Given the description of an element on the screen output the (x, y) to click on. 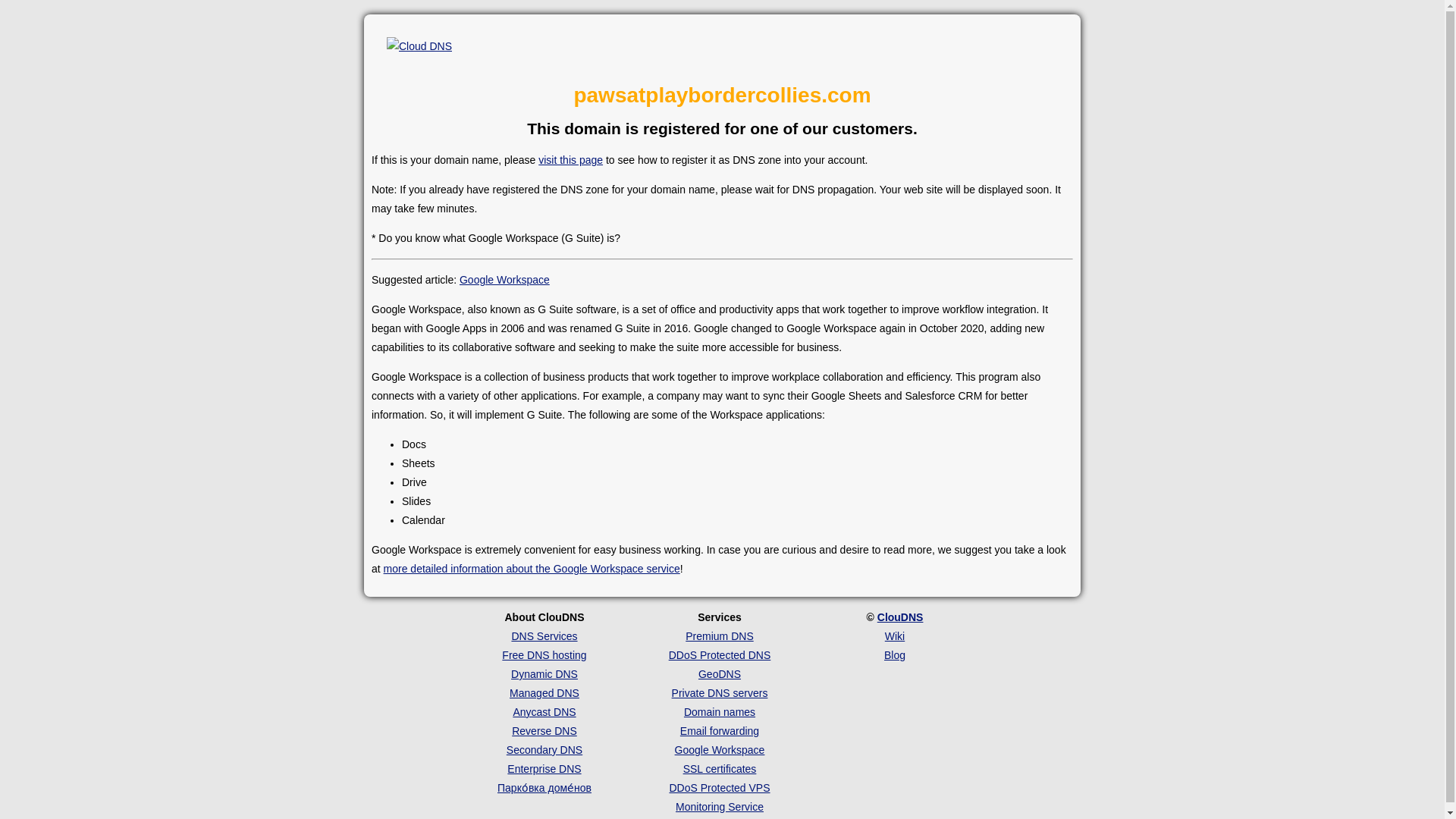
DDoS Protected DNS (719, 654)
Monitoring Service (718, 806)
Reverse DNS (544, 730)
Blog (894, 654)
DNS Services (543, 635)
more detailed information about the Google Workspace service (531, 568)
Premium DNS (718, 635)
Google Workspace (720, 749)
Secondary DNS (544, 749)
Anycast DNS (543, 711)
